Given the description of an element on the screen output the (x, y) to click on. 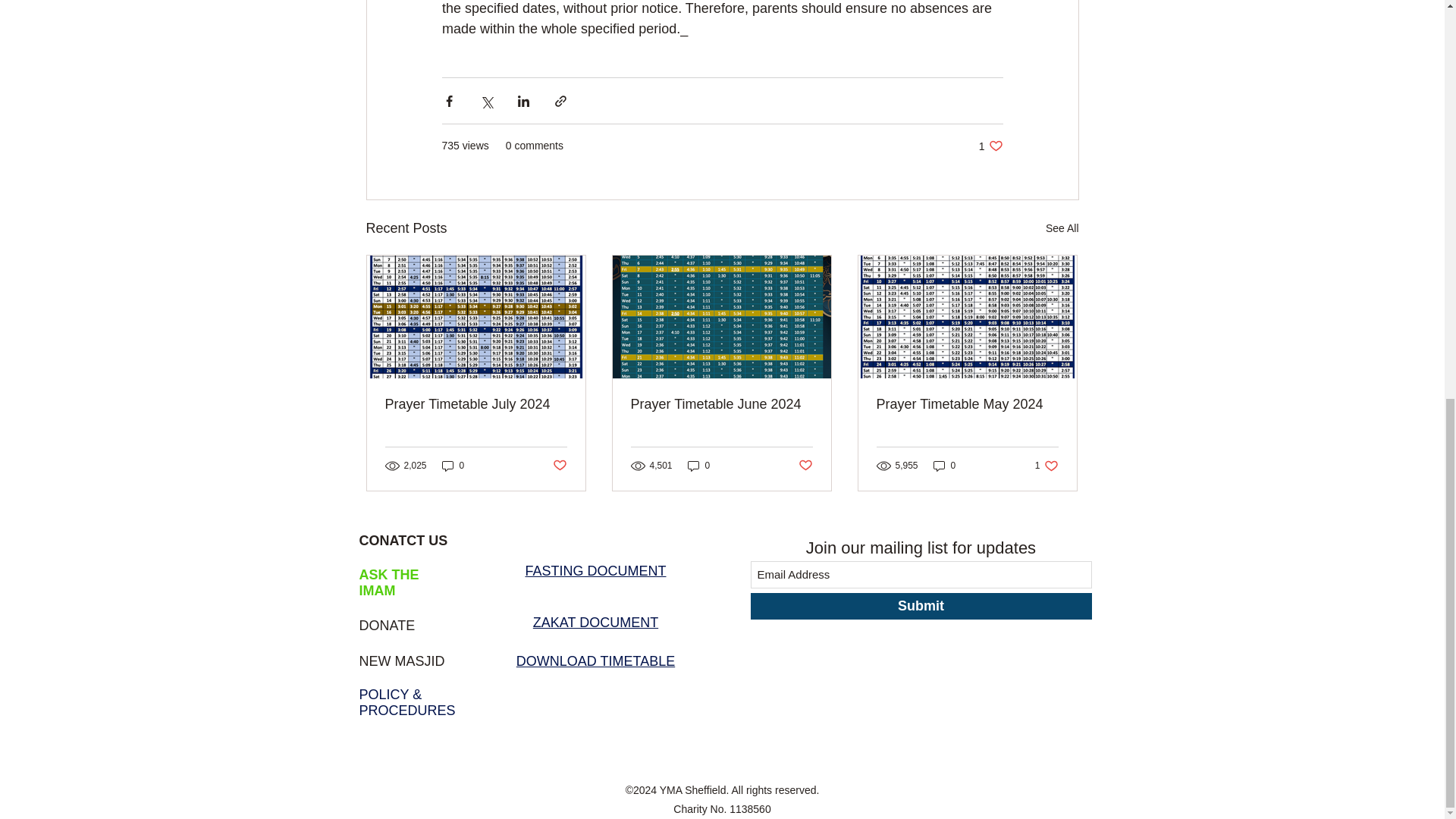
Prayer Timetable May 2024 (967, 404)
FASTING DOCUMENT (990, 145)
0 (594, 570)
Post not marked as liked (944, 465)
ZAKAT DOCUMENT (804, 465)
0 (595, 622)
CONATCT US (453, 465)
ASK THE IMAM (403, 540)
Prayer Timetable July 2024 (389, 582)
DONATE (1046, 465)
Submit (476, 404)
DOWNLOAD TIMETABLE (386, 625)
Prayer Timetable June 2024 (921, 605)
